Given the description of an element on the screen output the (x, y) to click on. 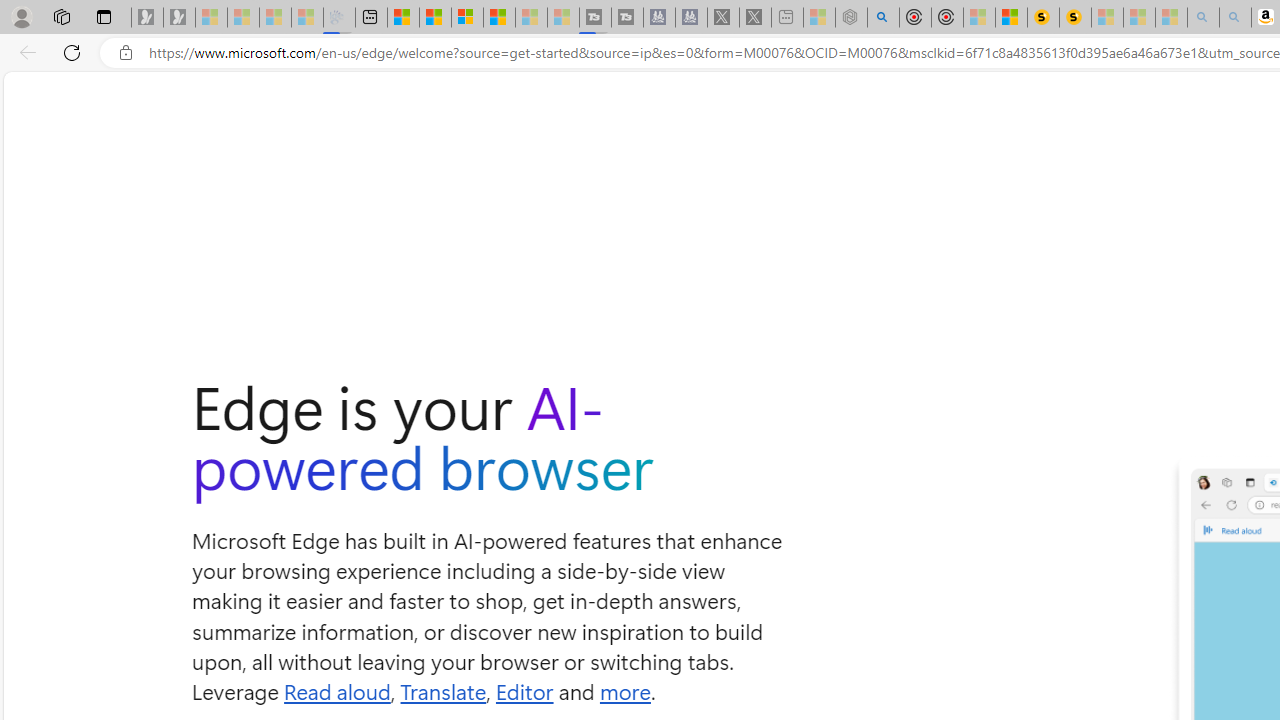
Streaming Coverage | T3 - Sleeping (594, 17)
Amazon Echo Dot PNG - Search Images - Sleeping (1234, 17)
X - Sleeping (754, 17)
Nordace - Summer Adventures 2024 - Sleeping (850, 17)
Wildlife - MSN - Sleeping (818, 17)
